Given the description of an element on the screen output the (x, y) to click on. 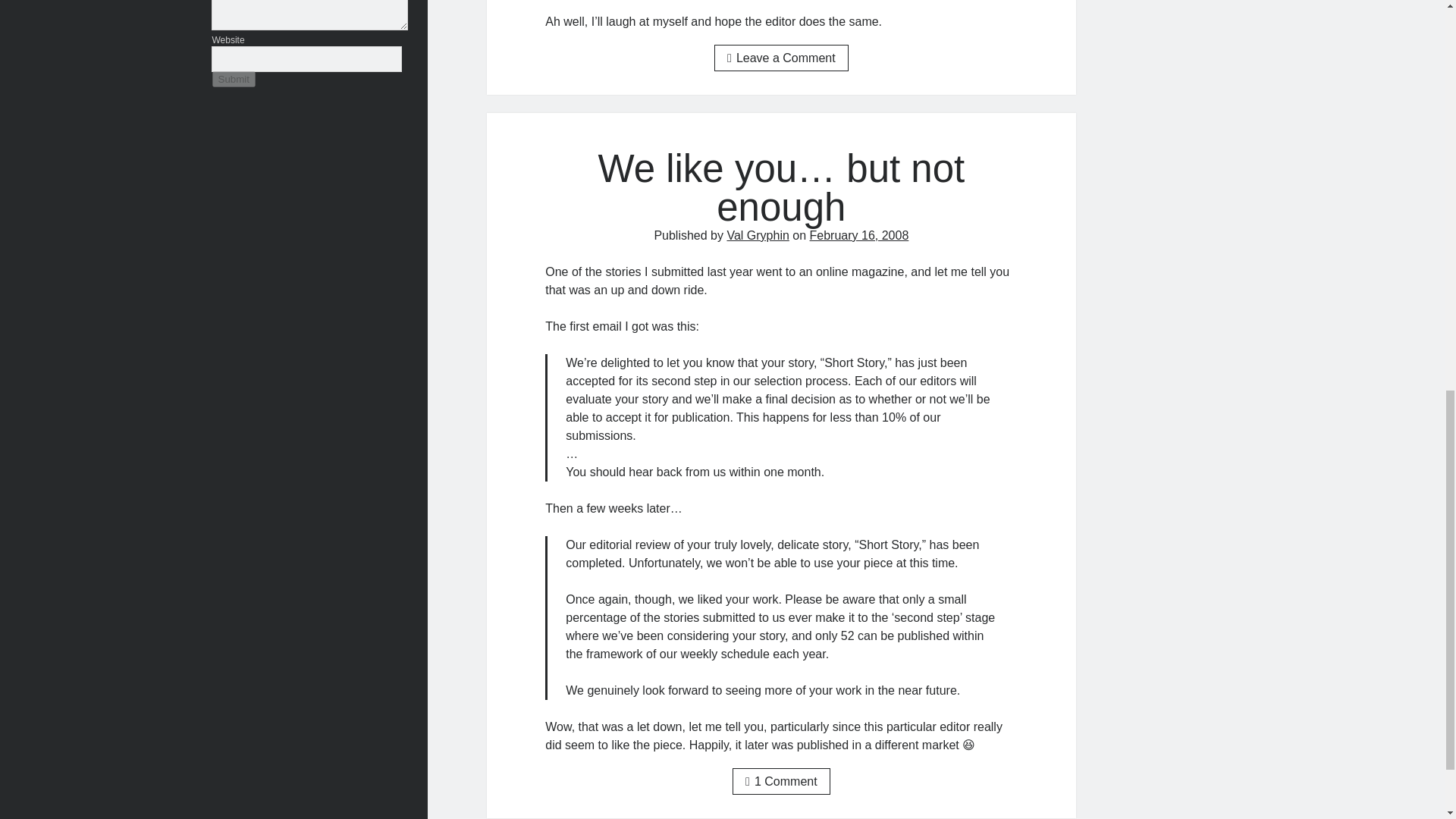
Submit (234, 78)
comment icon (731, 58)
Val Gryphin (757, 235)
Leave a Comment (781, 58)
comment icon (749, 781)
February 16, 2008 (858, 235)
1 Comment (780, 781)
